Given the description of an element on the screen output the (x, y) to click on. 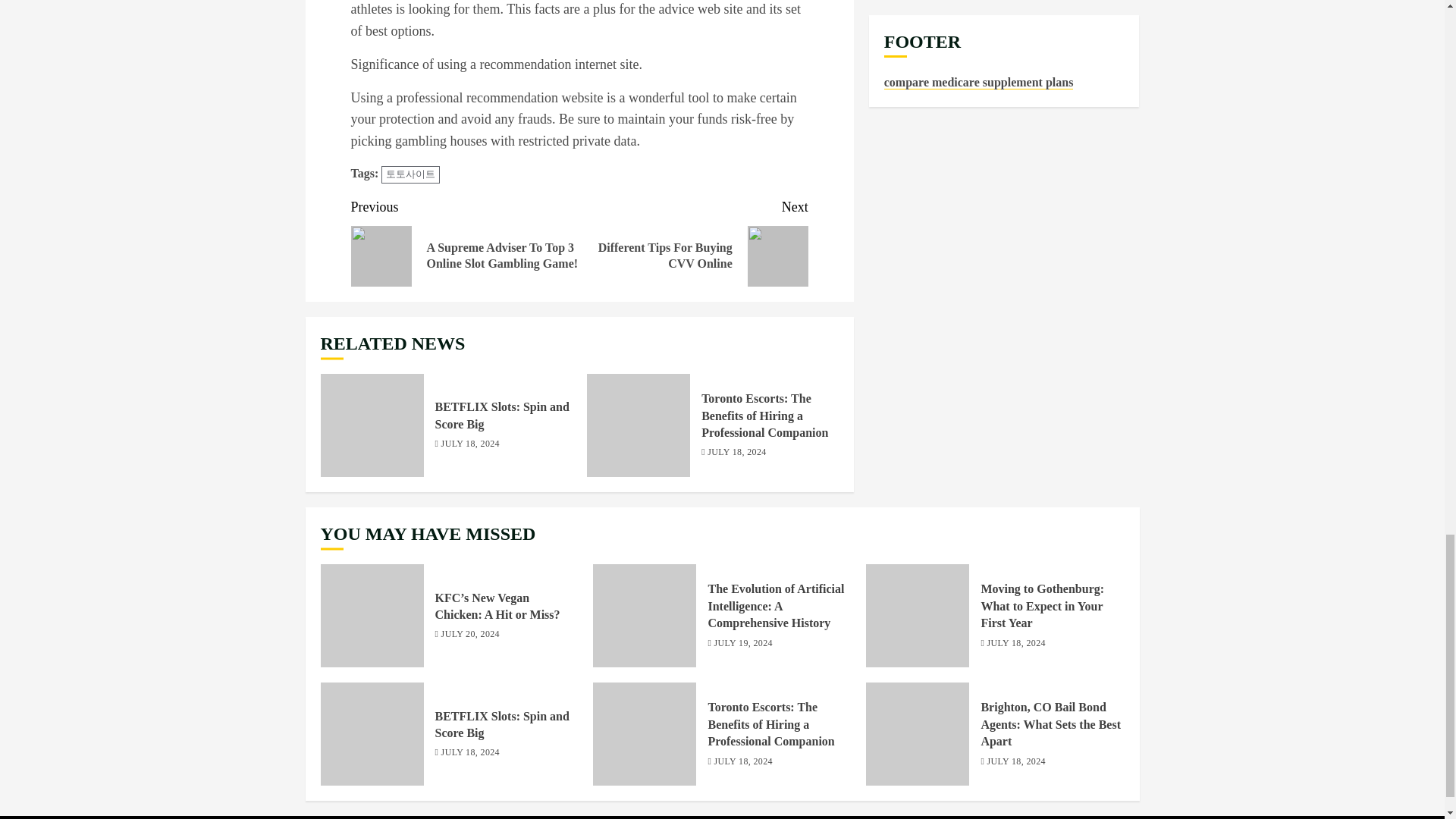
Brighton, CO Bail Bond Agents: What Sets the Best Apart (1050, 724)
BETFLIX Slots: Spin and Score Big (502, 415)
BETFLIX Slots: Spin and Score Big (371, 733)
BETFLIX Slots: Spin and Score Big (371, 424)
Moving to Gothenburg: What to Expect in Your First Year (917, 615)
Moving to Gothenburg: What to Expect in Your First Year (693, 241)
BETFLIX Slots: Spin and Score Big (1041, 605)
Brighton, CO Bail Bond Agents: What Sets the Best Apart (502, 725)
